Given the description of an element on the screen output the (x, y) to click on. 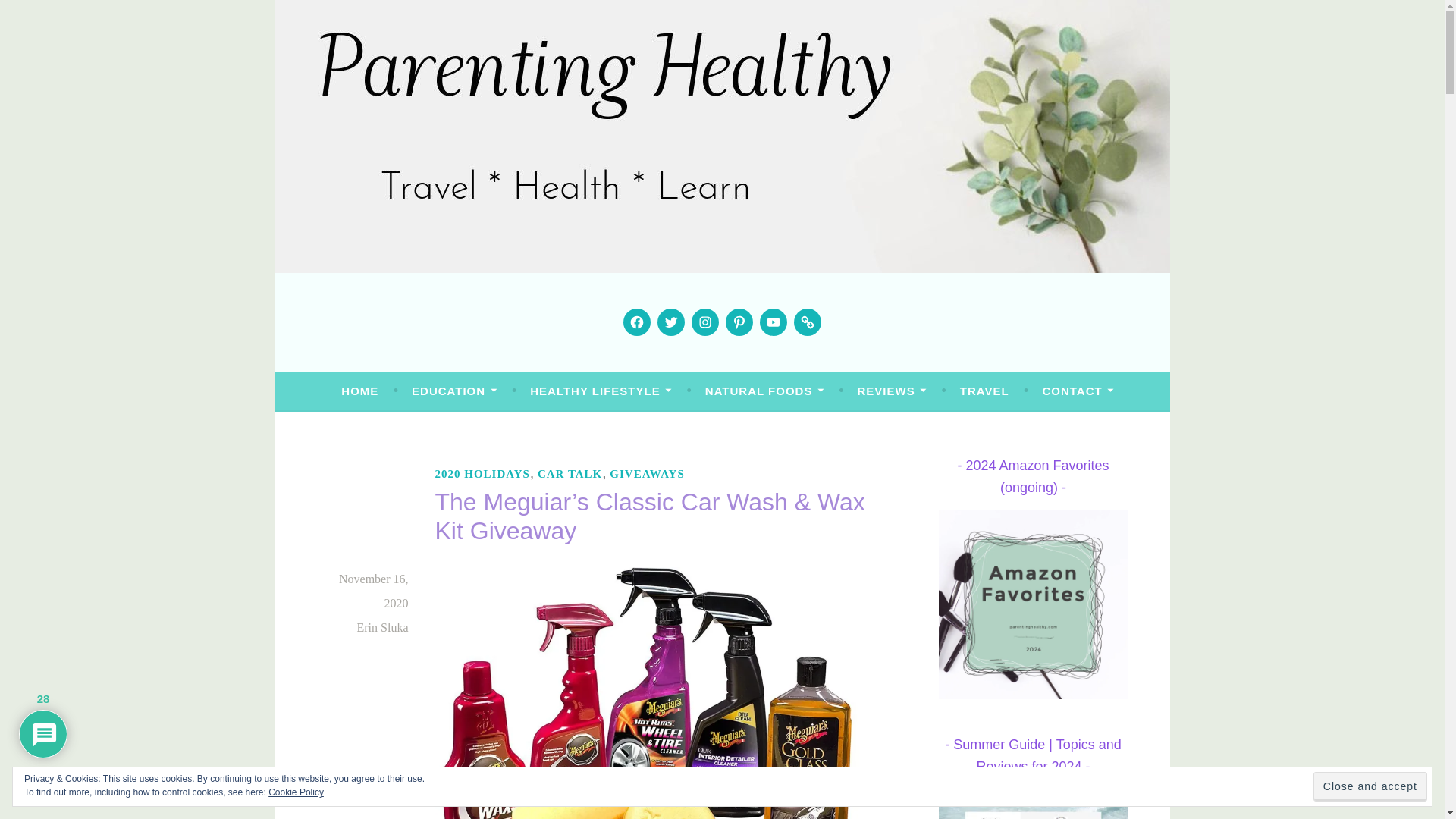
Twitter (670, 322)
CONTACT (1077, 390)
EDUCATION (454, 390)
HOME (359, 390)
2020 HOLIDAYS (482, 474)
Pinterest (739, 322)
TRAVEL (984, 390)
Close and accept (1369, 786)
GIVEAWAYS (647, 474)
YouTube (772, 322)
